Given the description of an element on the screen output the (x, y) to click on. 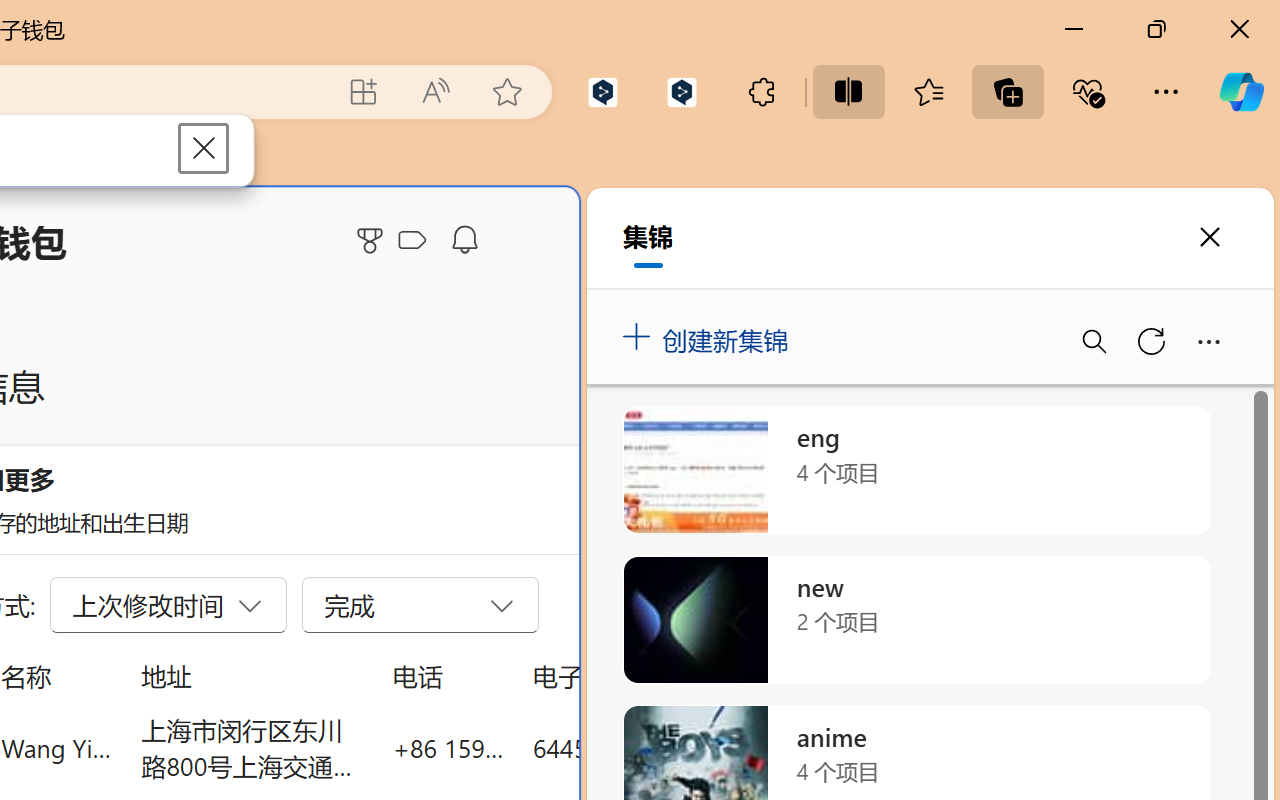
Copilot (Ctrl+Shift+.) (1241, 91)
Microsoft Cashback (415, 241)
+86 159 0032 4640 (447, 747)
